Given the description of an element on the screen output the (x, y) to click on. 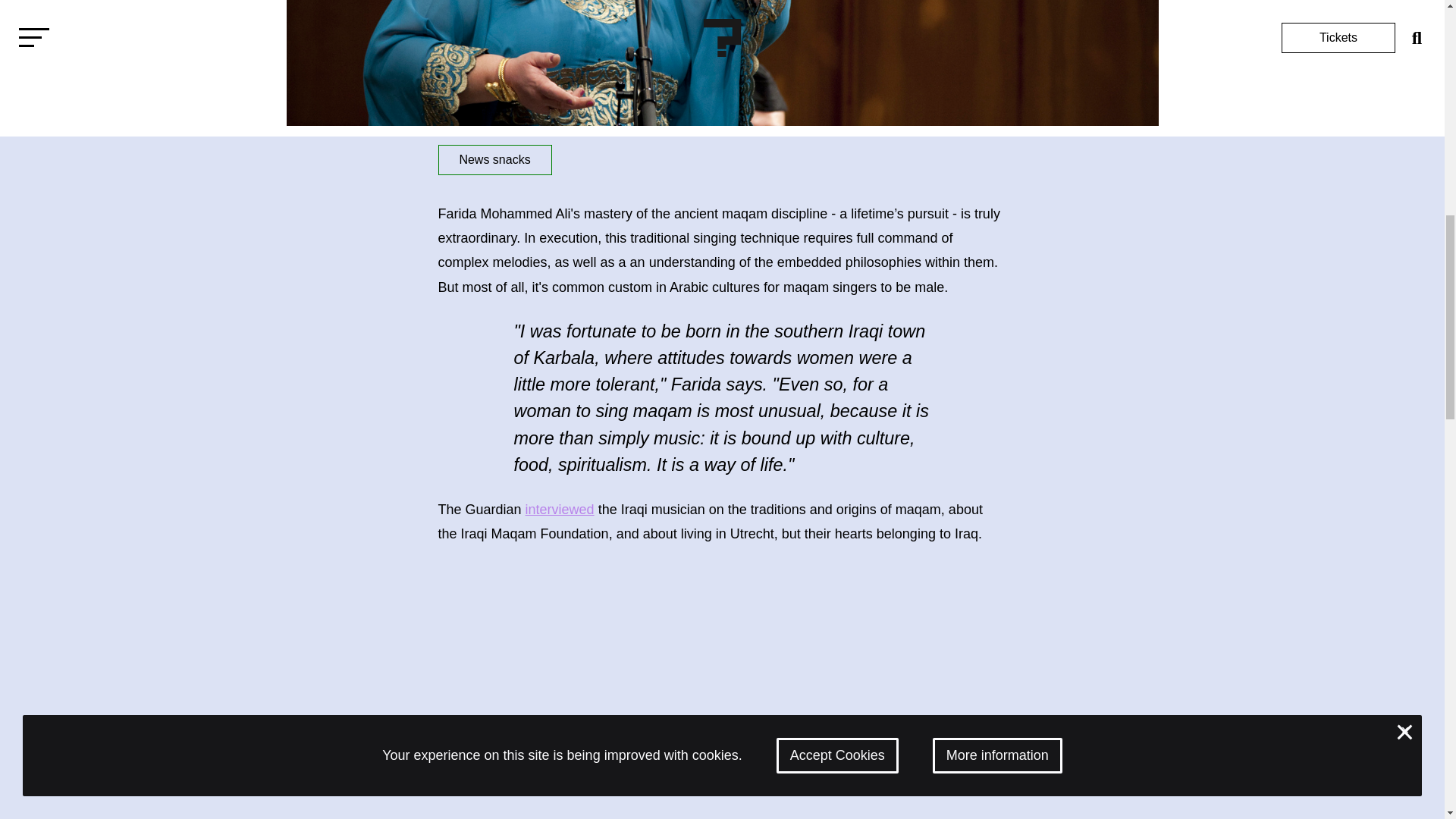
interviewed (559, 509)
News snacks (494, 159)
